Given the description of an element on the screen output the (x, y) to click on. 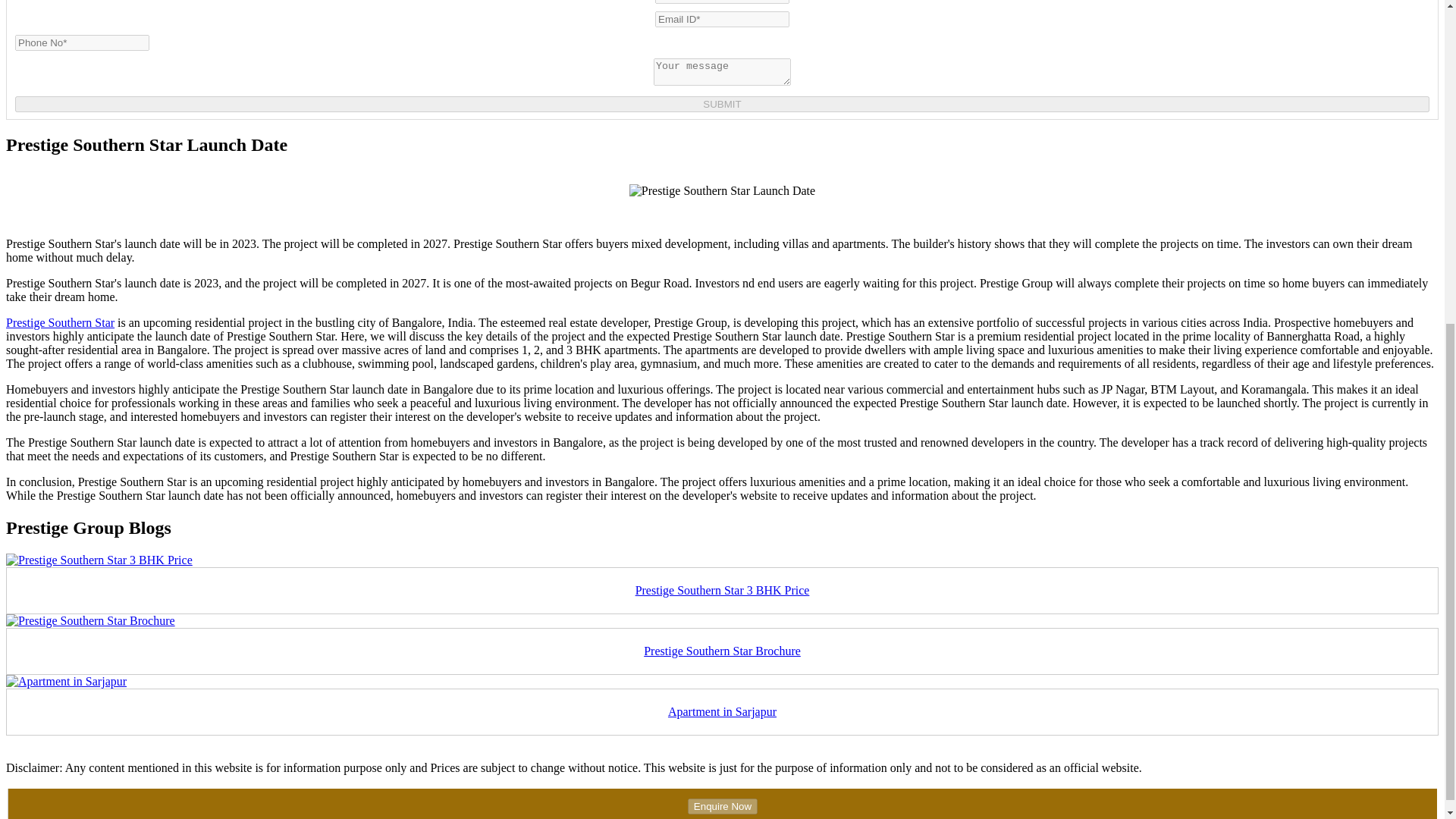
Prestige Southern Star Launch Date (721, 191)
Prestige Southern Star 3 BHK Price (721, 590)
Prestige Southern Star Brochure (721, 650)
Prestige Southern Star Brochure (89, 620)
Enquire Now (722, 806)
Prestige Southern Star Brochure (721, 650)
Prestige Southern Star 3 BHK Price (98, 559)
Prestige Southern Star (60, 322)
Prestige Southern Star (60, 322)
